Given the description of an element on the screen output the (x, y) to click on. 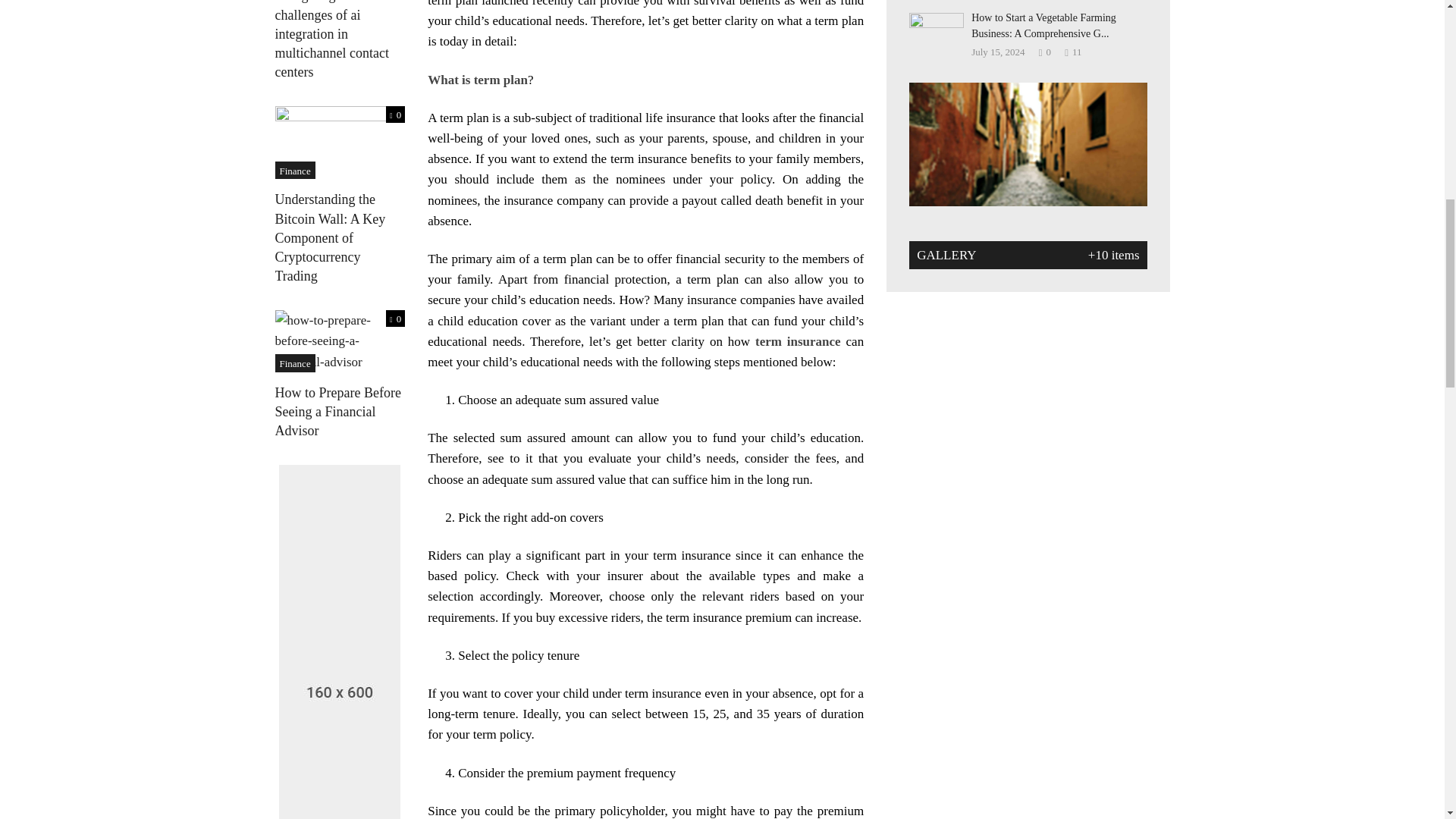
How to Prepare Before Seeing a Financial Advisor (339, 339)
What is term plan (477, 79)
